Given the description of an element on the screen output the (x, y) to click on. 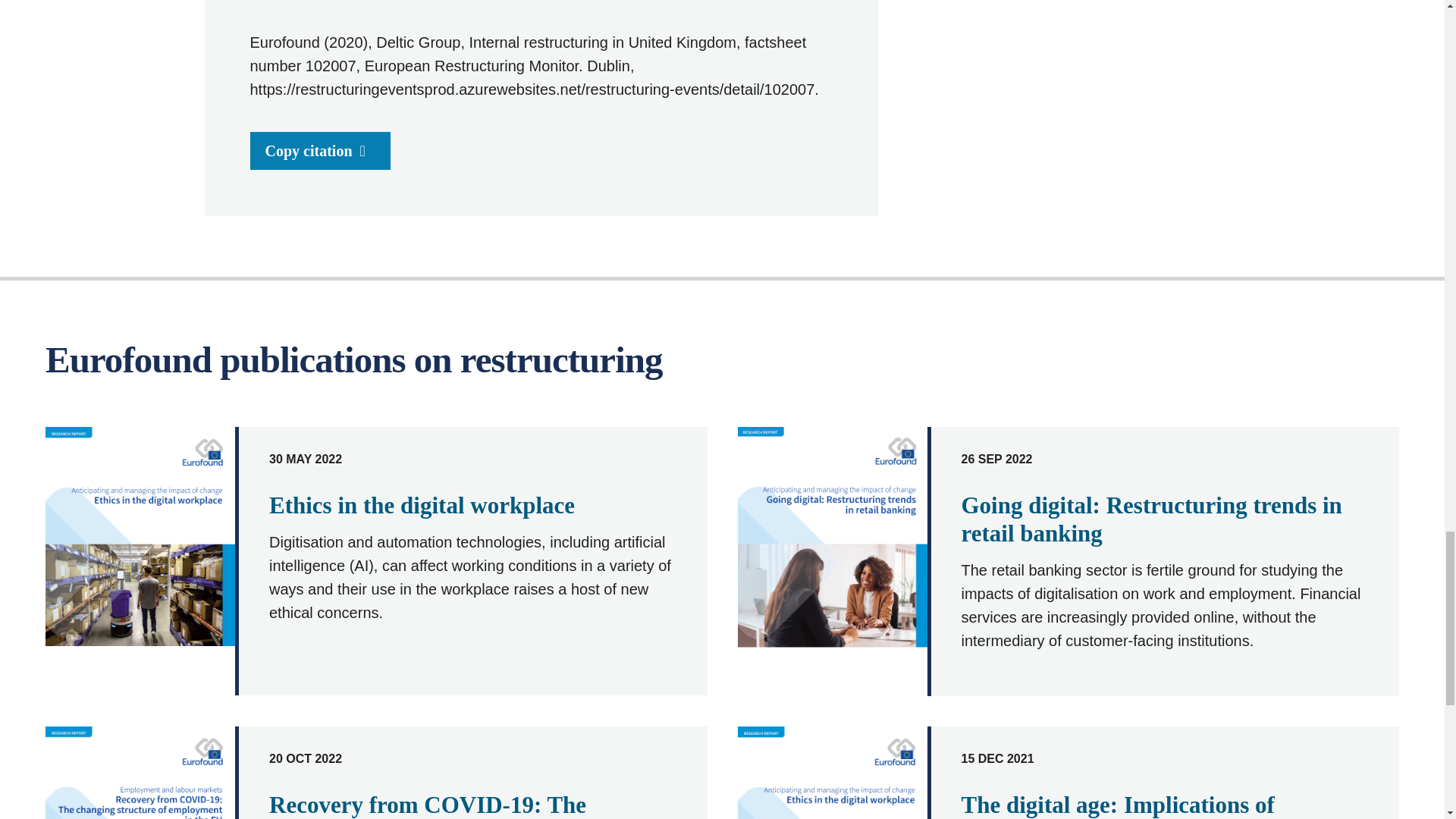
Ethics in the digital workplace (422, 505)
Going digital: Restructuring trends in retail banking (1151, 519)
Copy citation (320, 150)
